Given the description of an element on the screen output the (x, y) to click on. 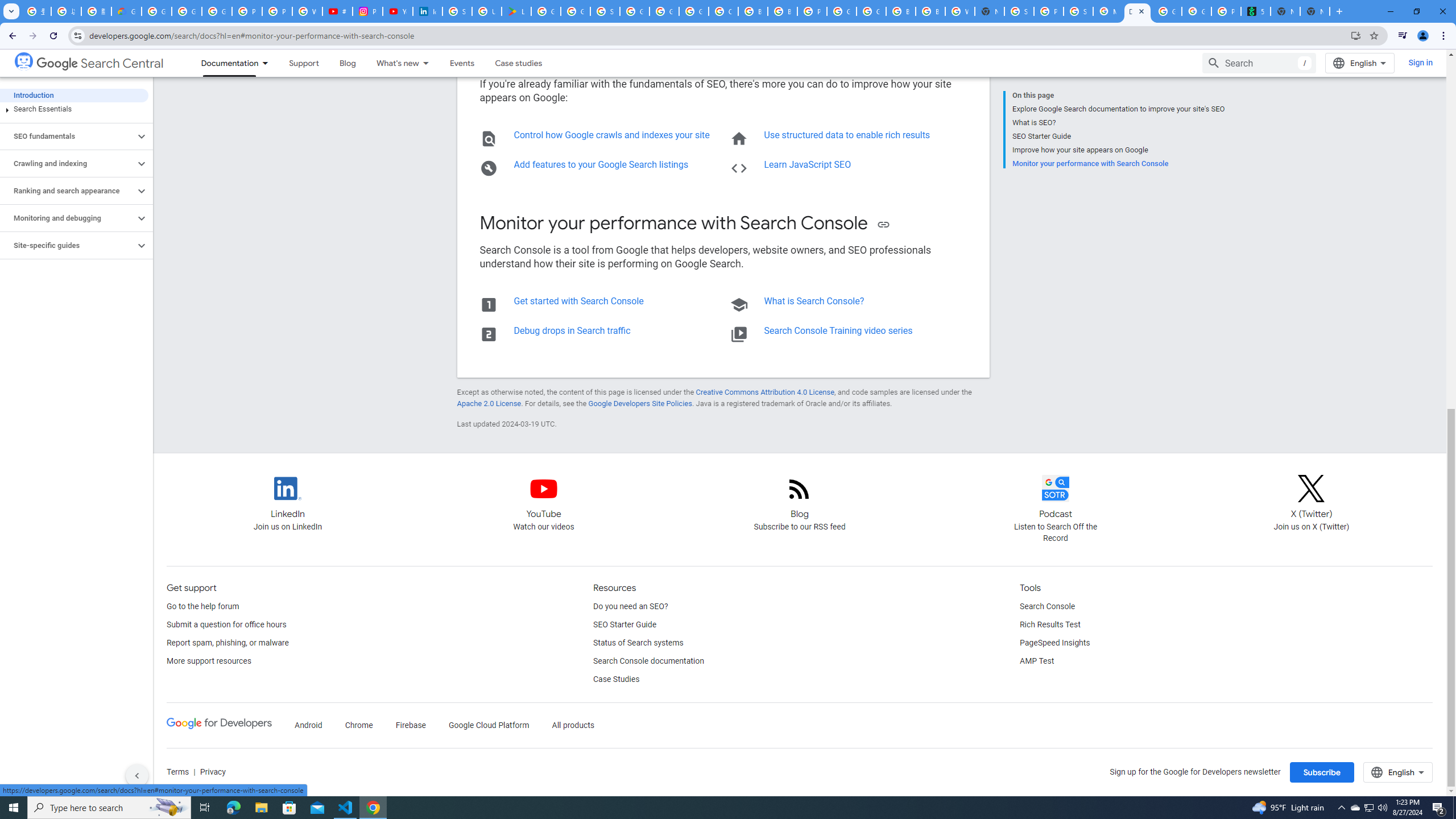
Google Developers (218, 723)
Case Studies (615, 679)
What's new (392, 62)
All products (573, 725)
Apache 2.0 License (489, 403)
Events (461, 62)
Status of Search systems (638, 642)
Control how Google crawls and indexes your site (611, 134)
Submit a question for office hours (225, 624)
